Given the description of an element on the screen output the (x, y) to click on. 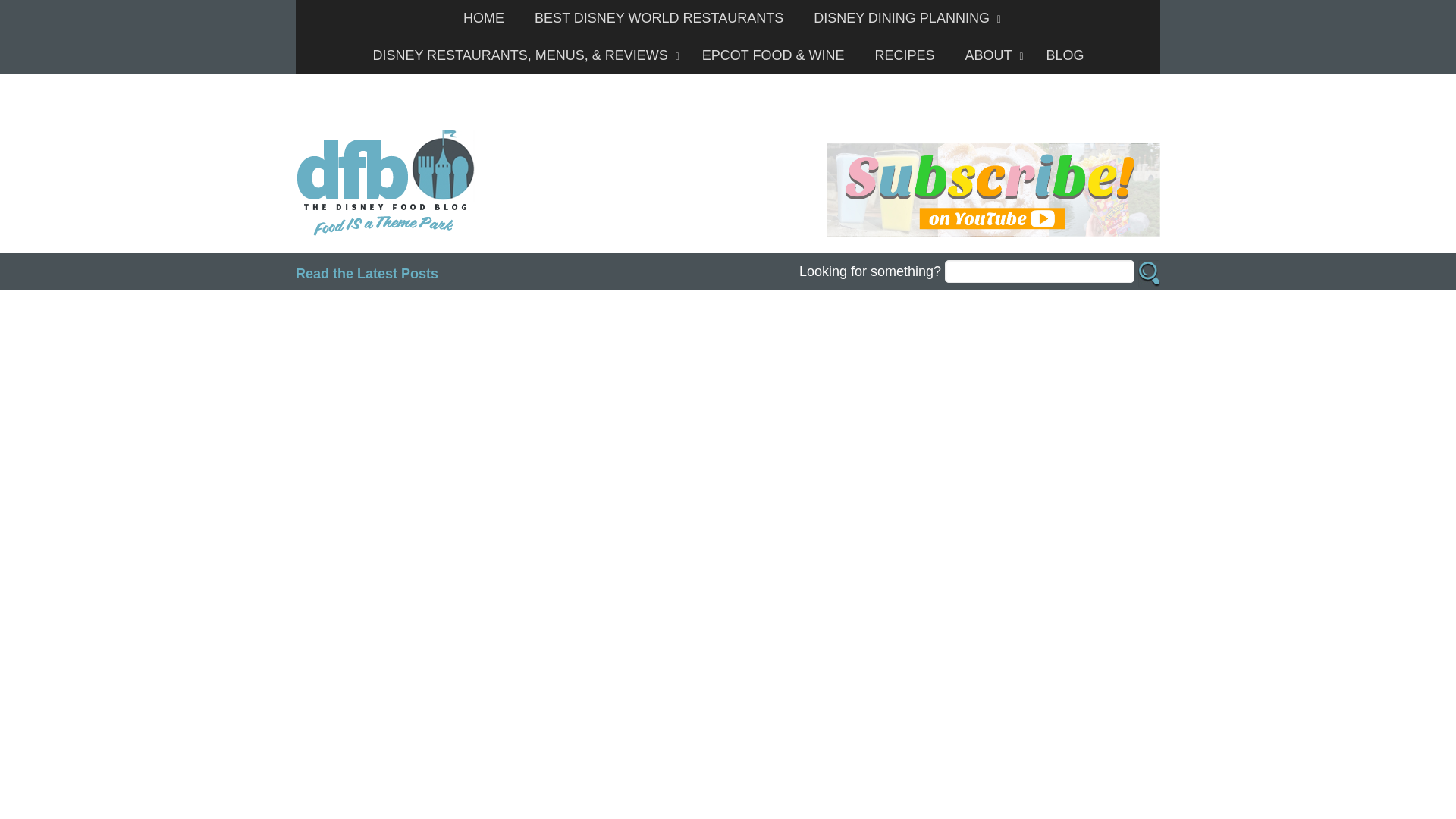
DISNEY DINING PLANNING (903, 18)
HOME (483, 18)
BEST DISNEY WORLD RESTAURANTS (658, 18)
